Given the description of an element on the screen output the (x, y) to click on. 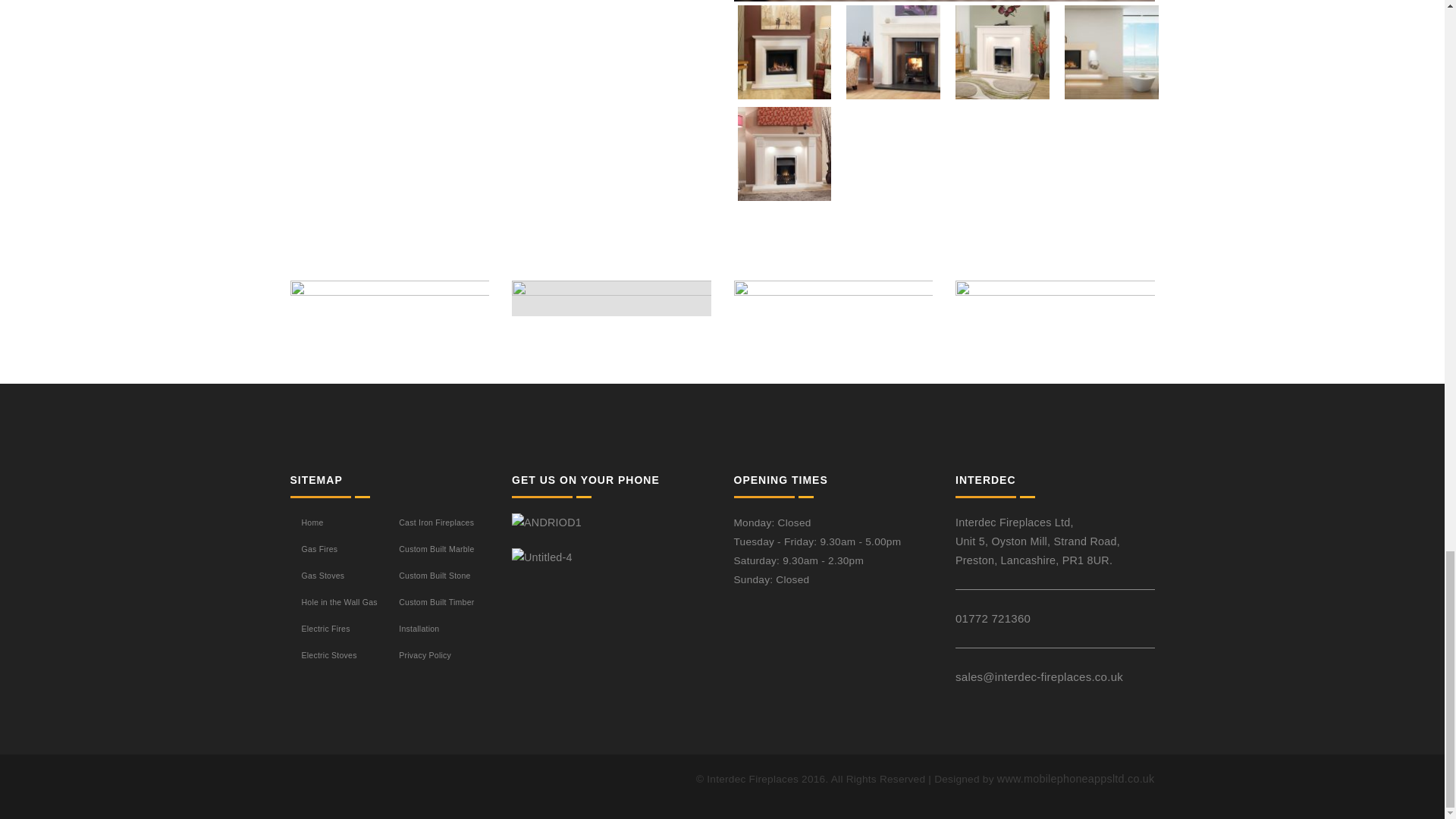
Hole in the Wall Gas (339, 601)
Home (312, 522)
Gas Fires (319, 548)
logo (389, 305)
Custom Built Stone (434, 574)
Electric Stoves (328, 655)
elgin-logo (833, 300)
Electric Fires (325, 628)
Cast Iron Fireplaces (436, 522)
